Given the description of an element on the screen output the (x, y) to click on. 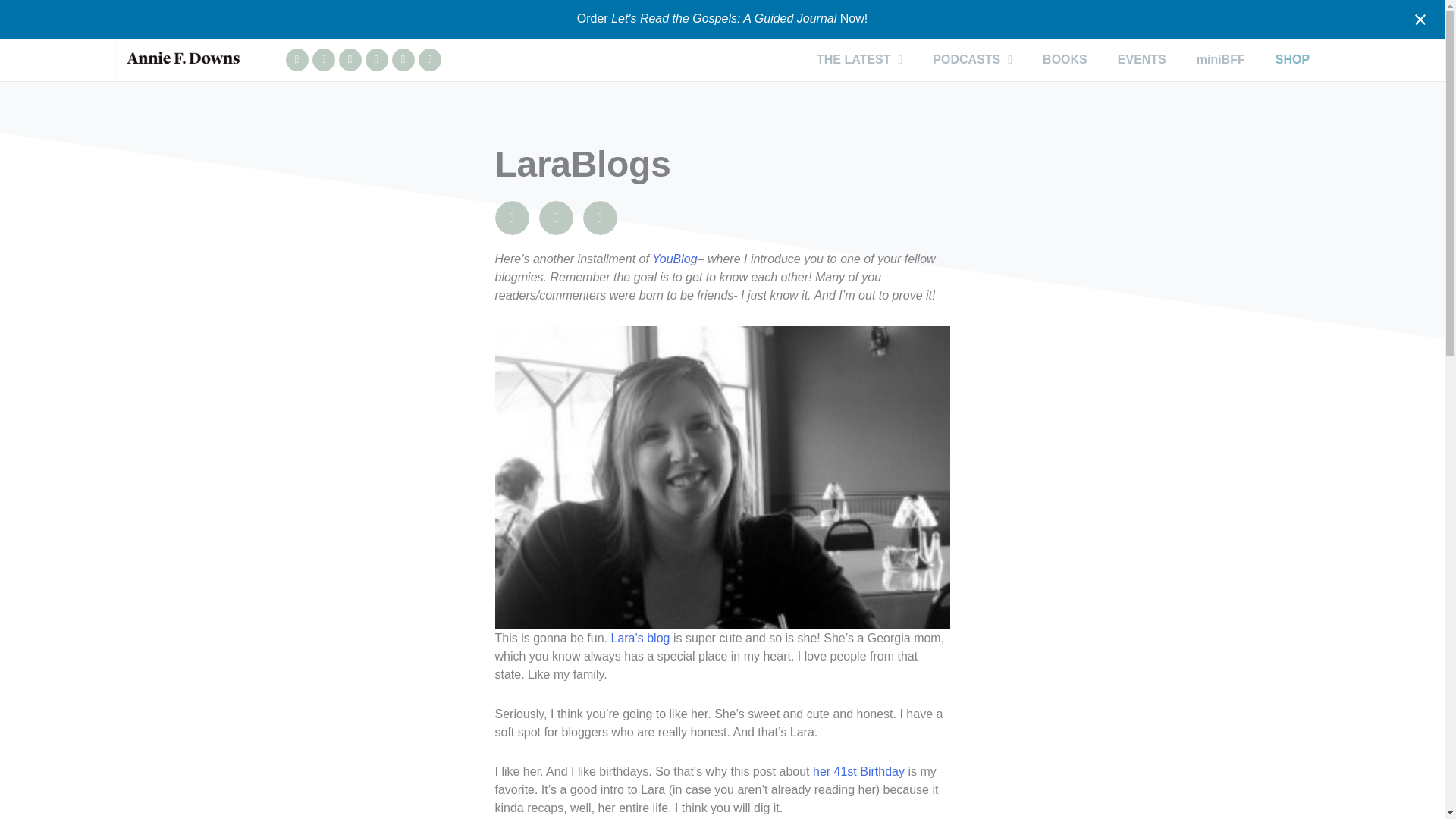
miniBFF (1220, 59)
BOOKS (1064, 59)
Twitter (402, 59)
SHOP (1292, 59)
EVENTS (1141, 59)
Facebook (323, 59)
THE LATEST (859, 59)
Tiktok (376, 59)
Youtube (349, 59)
Pinterest (430, 59)
